Given the description of an element on the screen output the (x, y) to click on. 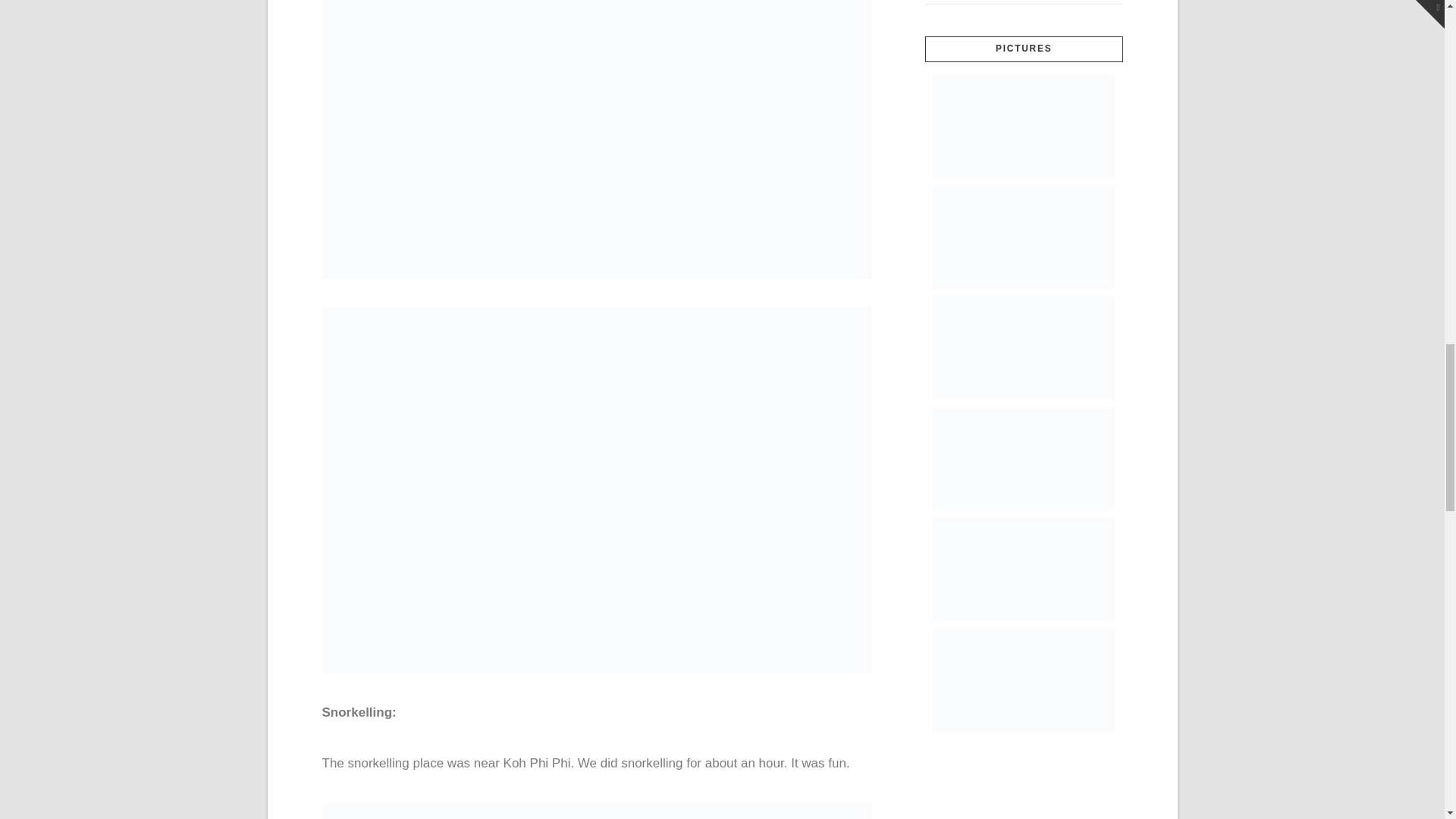
Exploring Sun Island - Day 3 (1024, 347)
Exploring Sun Island - Day 3 (1024, 126)
Phi Phi Island Tour (595, 93)
Phi Phi Island Tour (595, 489)
Exploring Sun Island - Day 3 (1024, 680)
Exploring Sun Island - Day 3 (1024, 237)
Exploring Sun Island - Day 3 (1024, 568)
Exploring Sun Island - Day 3 (1024, 458)
